Given the description of an element on the screen output the (x, y) to click on. 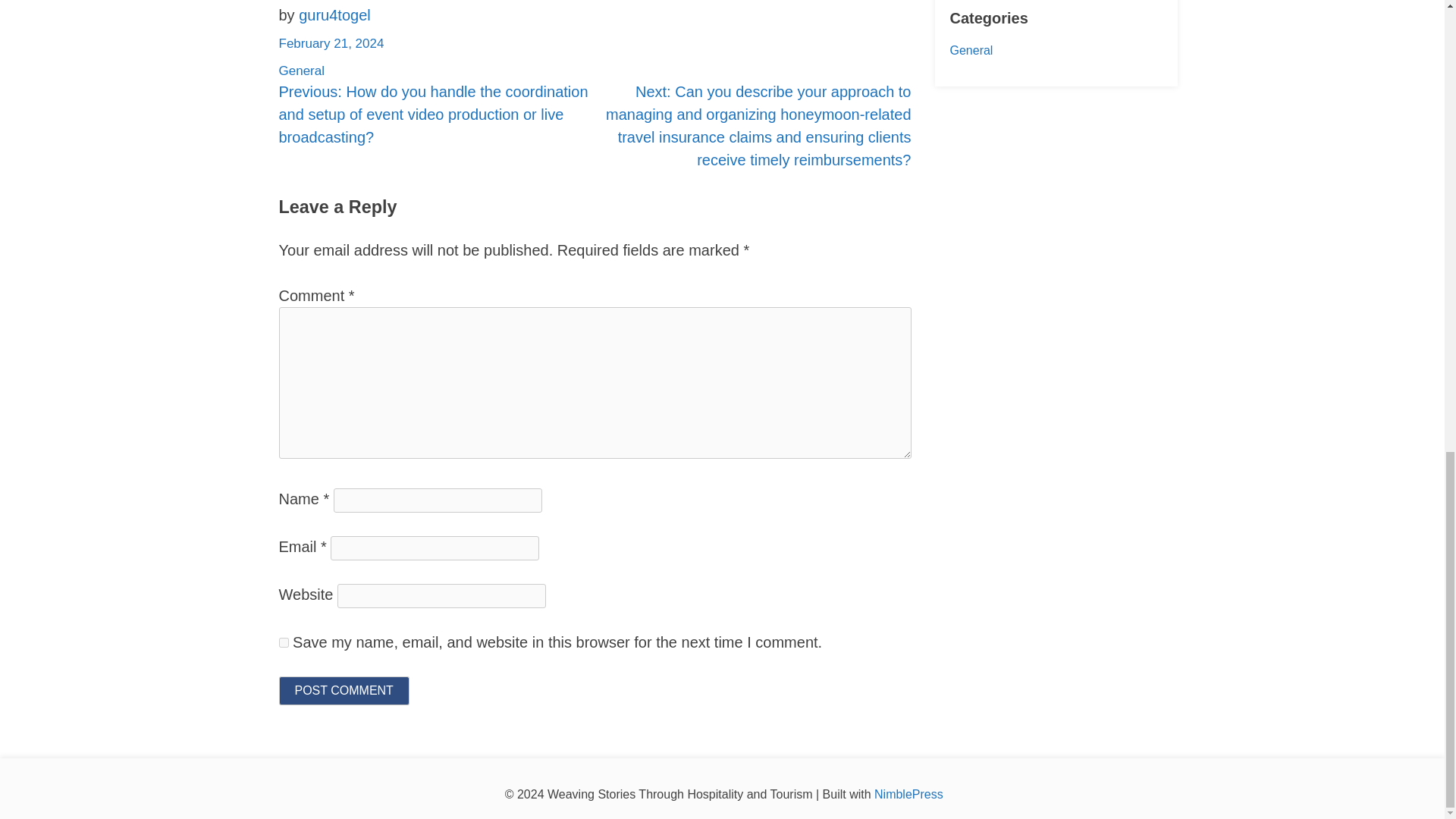
guru4togel (334, 14)
General (970, 50)
NimblePress (909, 794)
Post Comment (344, 690)
February 21, 2024 (331, 43)
yes (283, 642)
General (301, 70)
Post Comment (344, 690)
